Given the description of an element on the screen output the (x, y) to click on. 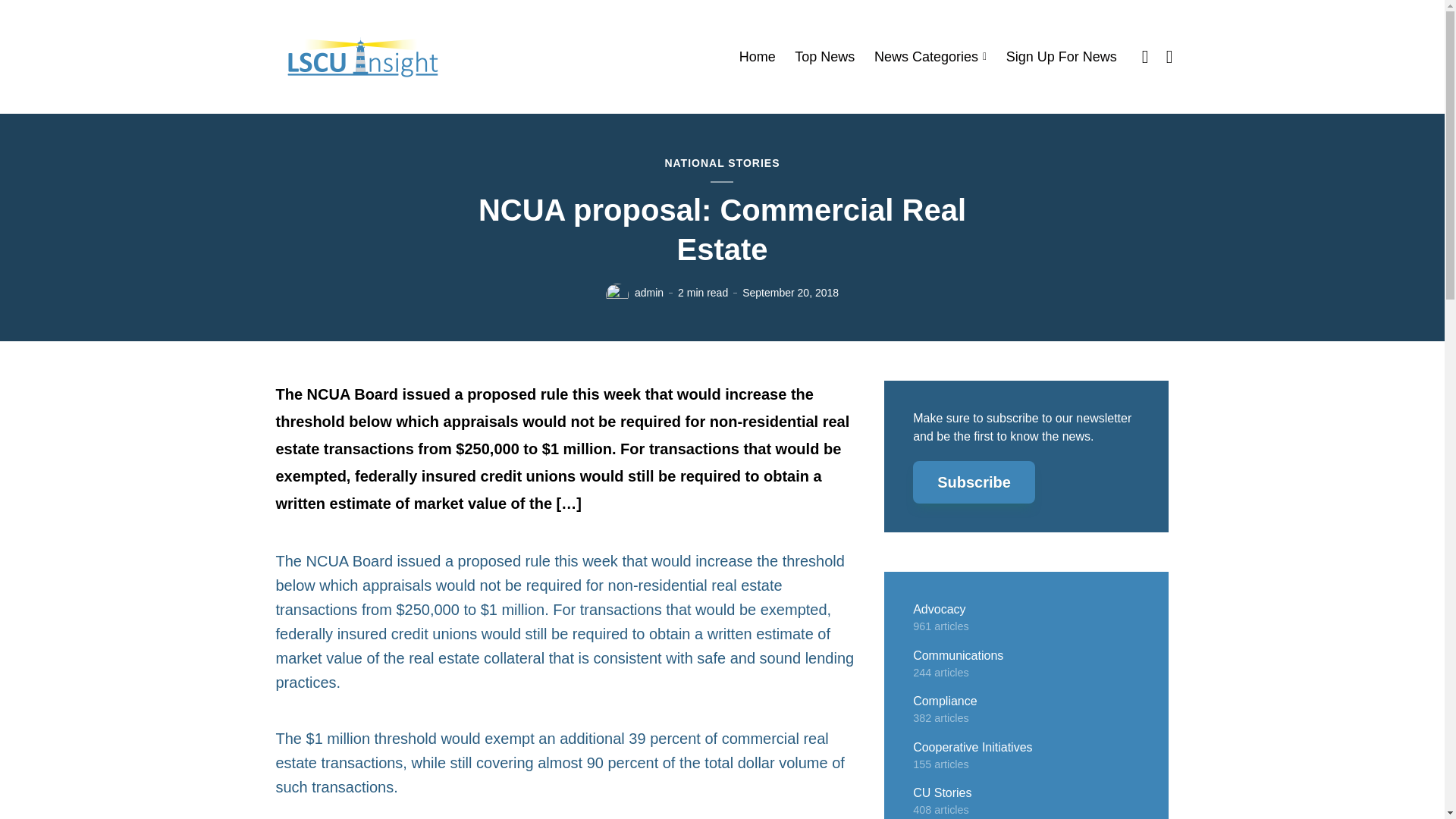
Home (757, 56)
admin (648, 292)
Sign Up For News (1061, 56)
Top News (824, 56)
NATIONAL STORIES (720, 163)
News Categories (931, 56)
